Given the description of an element on the screen output the (x, y) to click on. 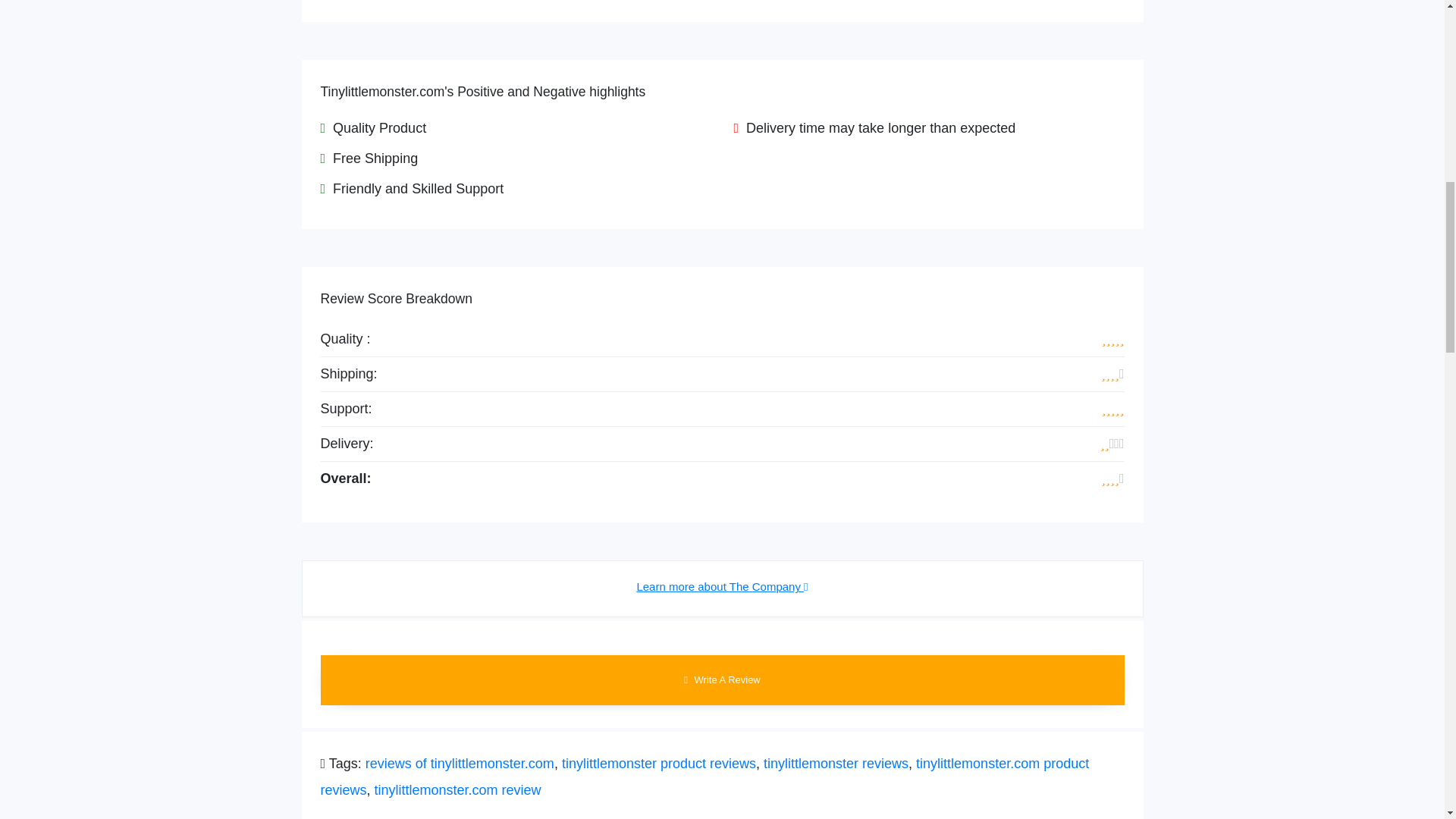
reviews of tinylittlemonster.com (459, 763)
tinylittlemonster.com product reviews (704, 776)
tinylittlemonster product reviews (658, 763)
Learn more about The Company (721, 586)
tinylittlemonster.com review (457, 789)
Write A Review (722, 680)
tinylittlemonster reviews (835, 763)
